Given the description of an element on the screen output the (x, y) to click on. 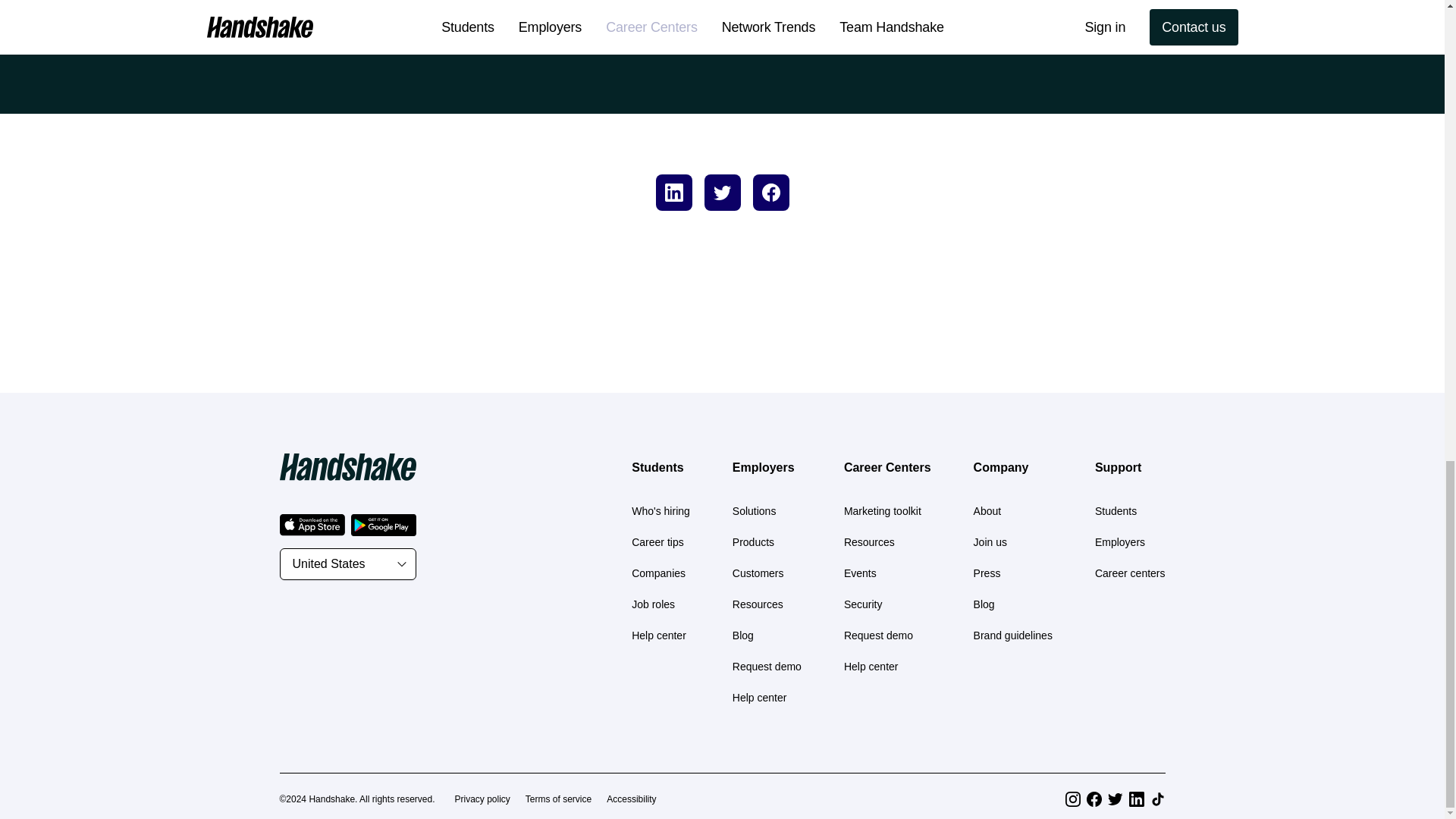
Instagram (1072, 798)
Employers (763, 467)
Help center (658, 635)
Job roles (653, 604)
Customers (758, 573)
TikTok (1157, 798)
Who's hiring (660, 510)
Facebook (1093, 798)
Solutions (754, 510)
Companies (658, 573)
Download iOS pp (311, 525)
Career tips (656, 541)
Download Android app (382, 525)
Products (753, 541)
Students (656, 467)
